Given the description of an element on the screen output the (x, y) to click on. 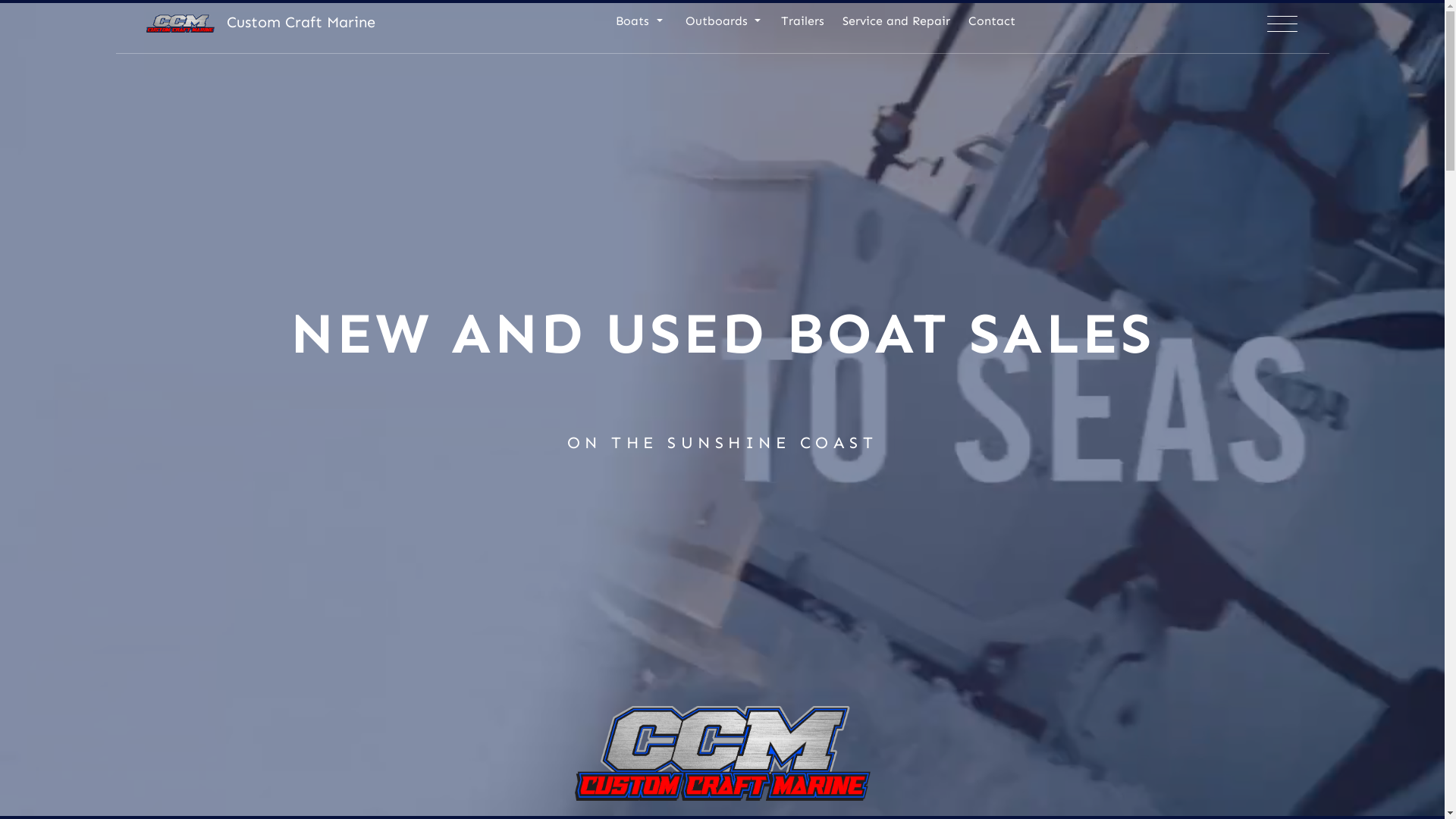
Contact Element type: text (991, 26)
Service and Repair Element type: text (896, 26)
Trailers Element type: text (802, 26)
Outboards Element type: text (722, 26)
Custom Craft Marine Element type: text (260, 21)
Boats Element type: text (638, 26)
